Given the description of an element on the screen output the (x, y) to click on. 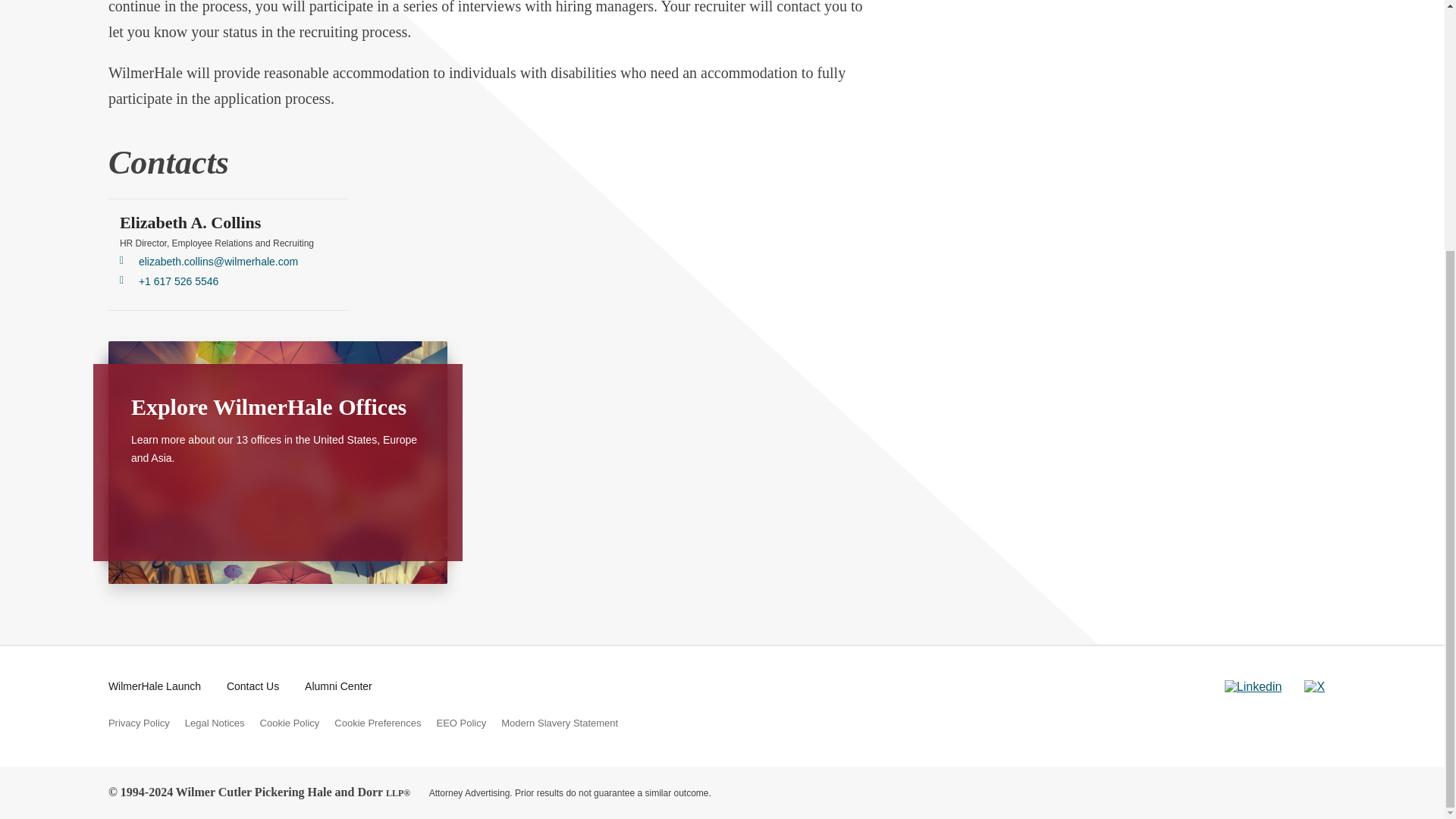
WilmerHale Launch (153, 686)
Alumni Center (338, 686)
Privacy Policy (138, 722)
Legal Notices (214, 722)
WilmerHale on LinkedIn (1253, 686)
Cookie Preferences (377, 722)
Cookie Policy (290, 722)
Contact Us (253, 686)
WilmerHale on X (1314, 686)
